Given the description of an element on the screen output the (x, y) to click on. 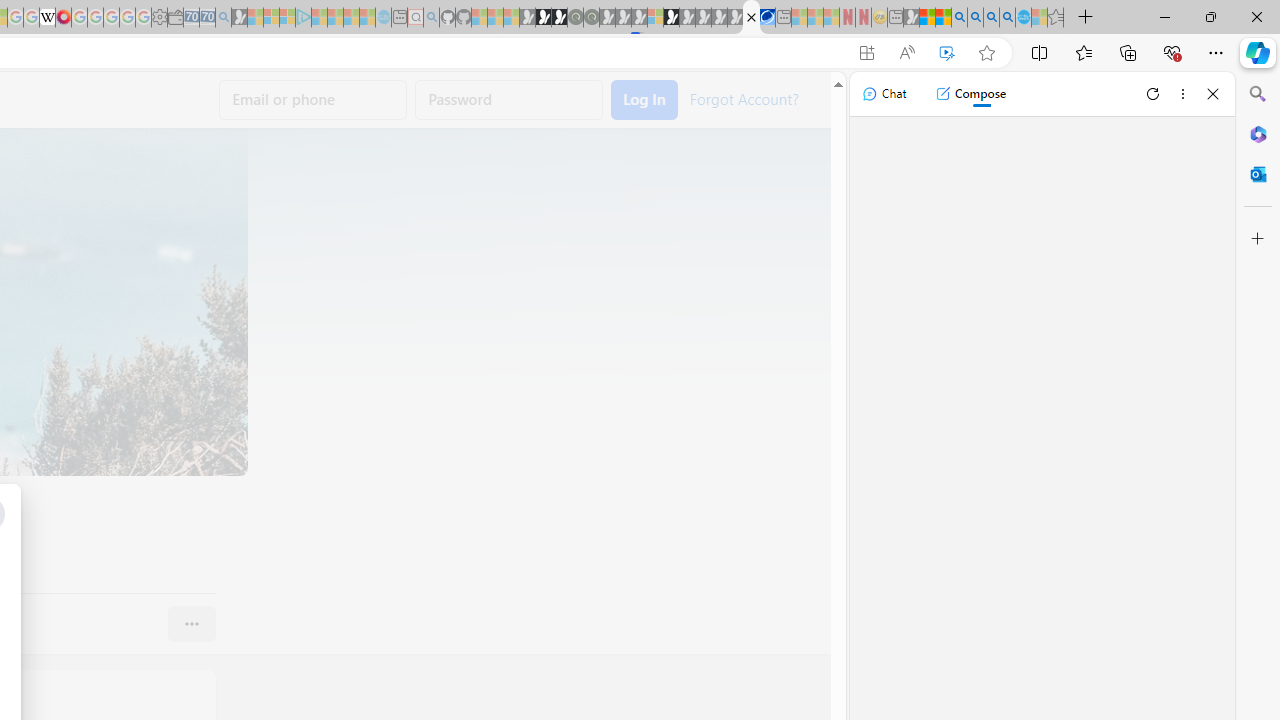
MediaWiki (63, 17)
Services - Maintenance | Sky Blue Bikes - Sky Blue Bikes (1023, 17)
2009 Bing officially replaced Live Search on June 3 - Search (975, 17)
Email or phone (313, 99)
